Given the description of an element on the screen output the (x, y) to click on. 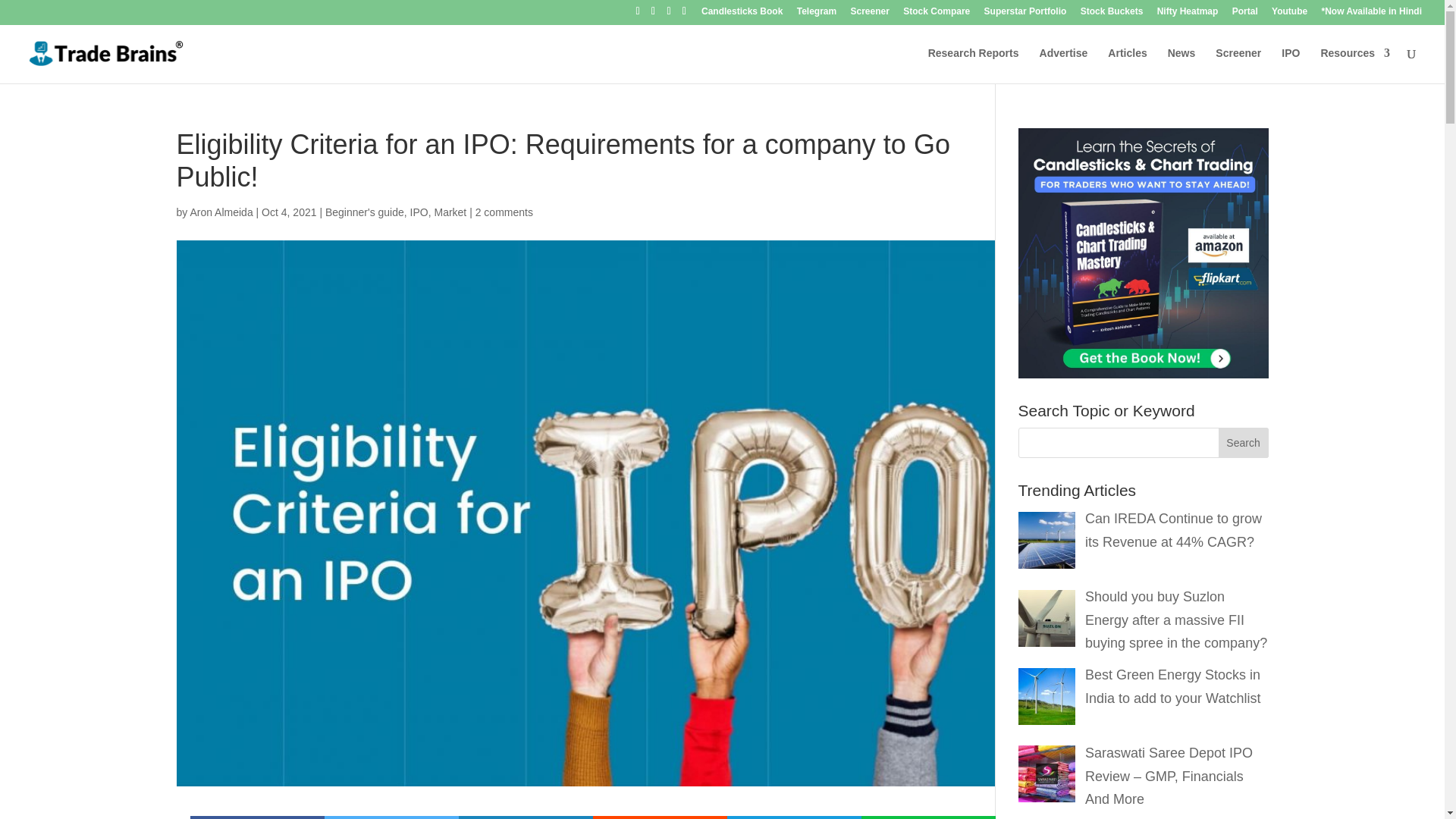
Posts by Aron Almeida (220, 212)
Aron Almeida (220, 212)
Market (449, 212)
Research Reports (973, 65)
2 comments (504, 212)
Advertise (1063, 65)
Candlesticks and chart trading mastery book (1142, 252)
Telegram (815, 14)
Superstar Portfolio (1025, 14)
Candlesticks Book (742, 14)
